Given the description of an element on the screen output the (x, y) to click on. 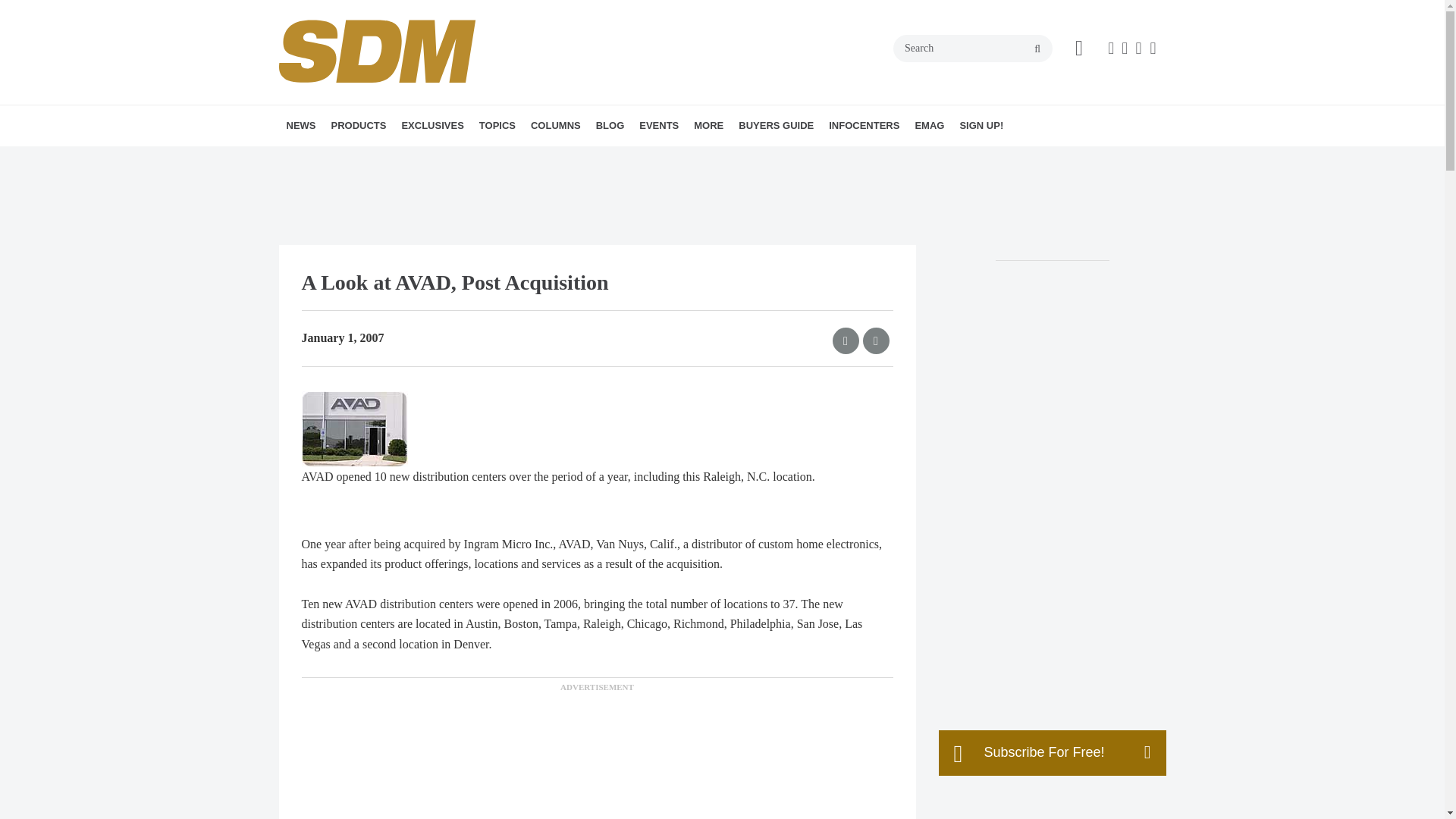
INTEGRATION SPOTLIGHT (636, 158)
SDM 100 (488, 158)
search (1037, 49)
EDITOR'S ANGLE (625, 158)
ANNUAL INDUSTRY FORECAST (504, 158)
MORE SDM TOPICS (592, 158)
PROJECT OF THE YEAR (524, 158)
SYSTEMS INTEGRATOR OF THE YEAR (519, 167)
TOP SYSTEMS INTEGRATOR REPORT (496, 167)
SMART HOME (587, 158)
